Given the description of an element on the screen output the (x, y) to click on. 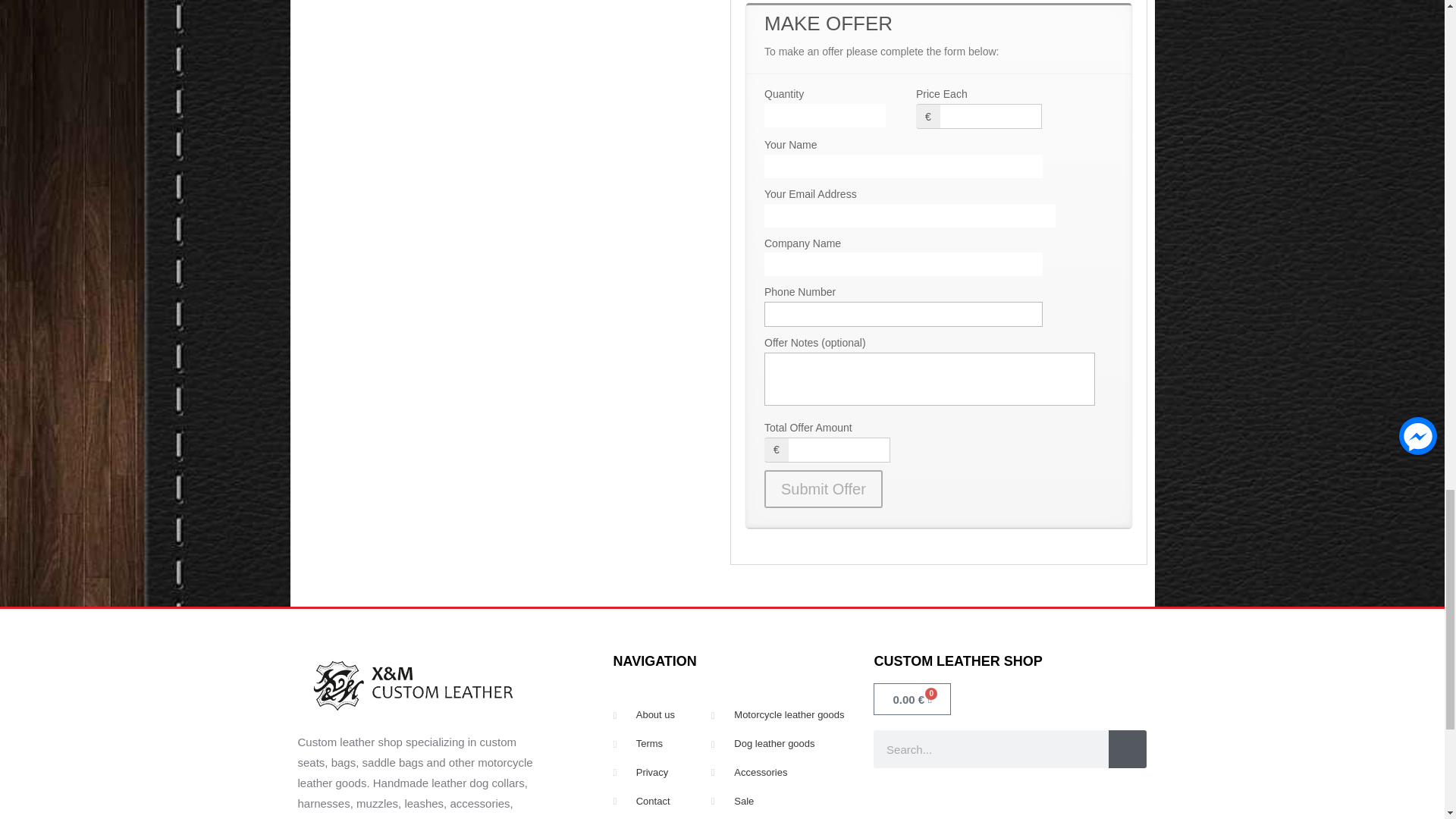
Submit Offer (823, 488)
